Given the description of an element on the screen output the (x, y) to click on. 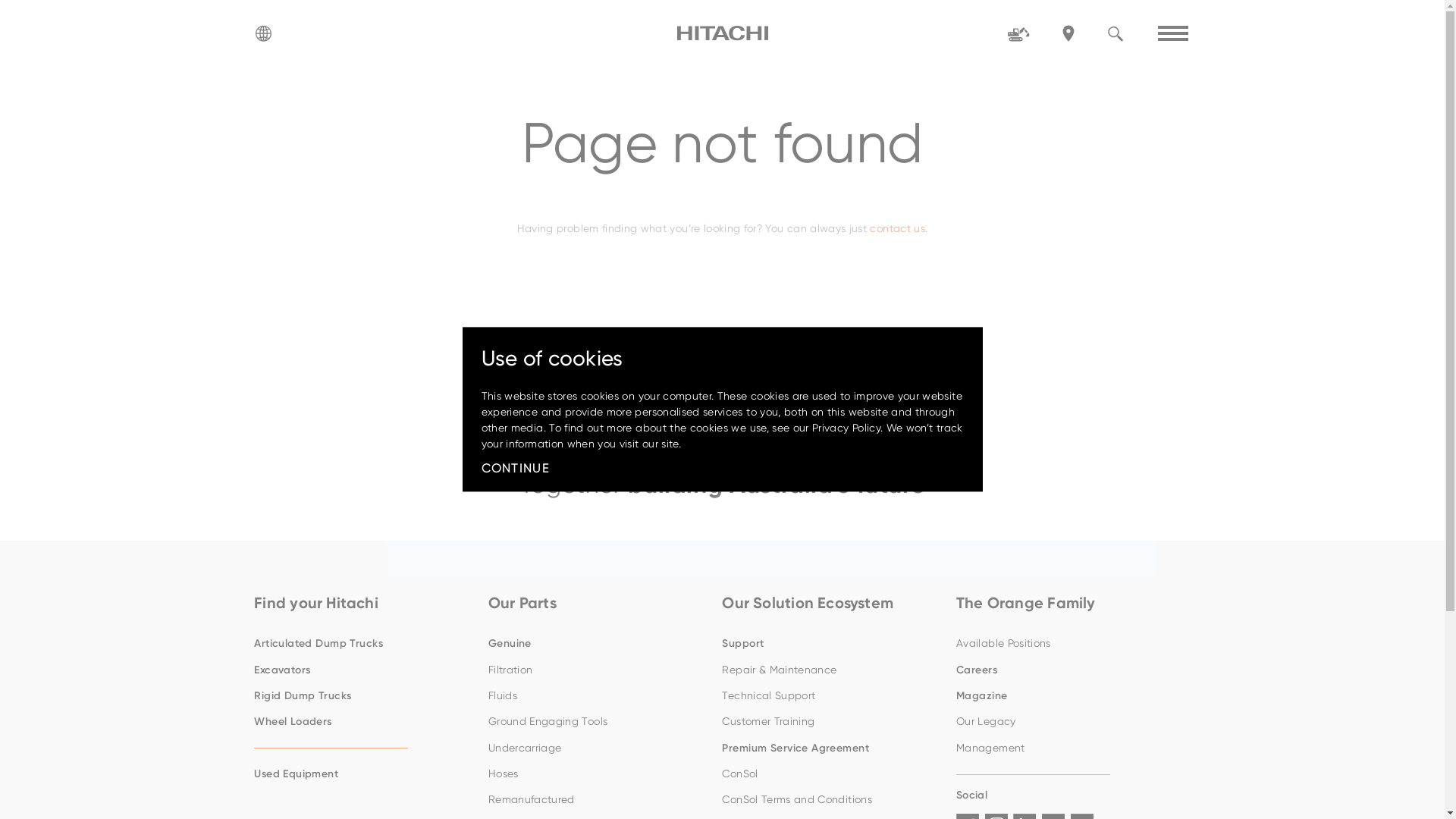
Ground Engaging Tools Element type: text (597, 721)
Rigid Dump Trucks Element type: text (363, 696)
Our Legacy Element type: text (1065, 721)
Filtration Element type: text (597, 669)
Used Equipment Element type: text (363, 774)
CONTINUE Element type: text (515, 468)
ConSol Element type: text (830, 774)
Excavators Element type: text (363, 669)
Hoses Element type: text (597, 774)
Premium Service Agreement Element type: text (830, 747)
Customer Training Element type: text (830, 721)
Technical Support Element type: text (830, 696)
contact us Element type: text (897, 228)
Fluids Element type: text (597, 696)
Repair & Maintenance Element type: text (830, 669)
Remanufactured Element type: text (597, 799)
Articulated Dump Trucks Element type: text (363, 643)
Support Element type: text (830, 643)
Undercarriage Element type: text (597, 747)
Magazine Element type: text (1065, 696)
Wheel Loaders Element type: text (363, 721)
ConSol Terms and Conditions Element type: text (830, 799)
Available Positions Element type: text (1065, 643)
Management Element type: text (1065, 747)
Genuine Element type: text (597, 643)
Careers Element type: text (1065, 669)
